Given the description of an element on the screen output the (x, y) to click on. 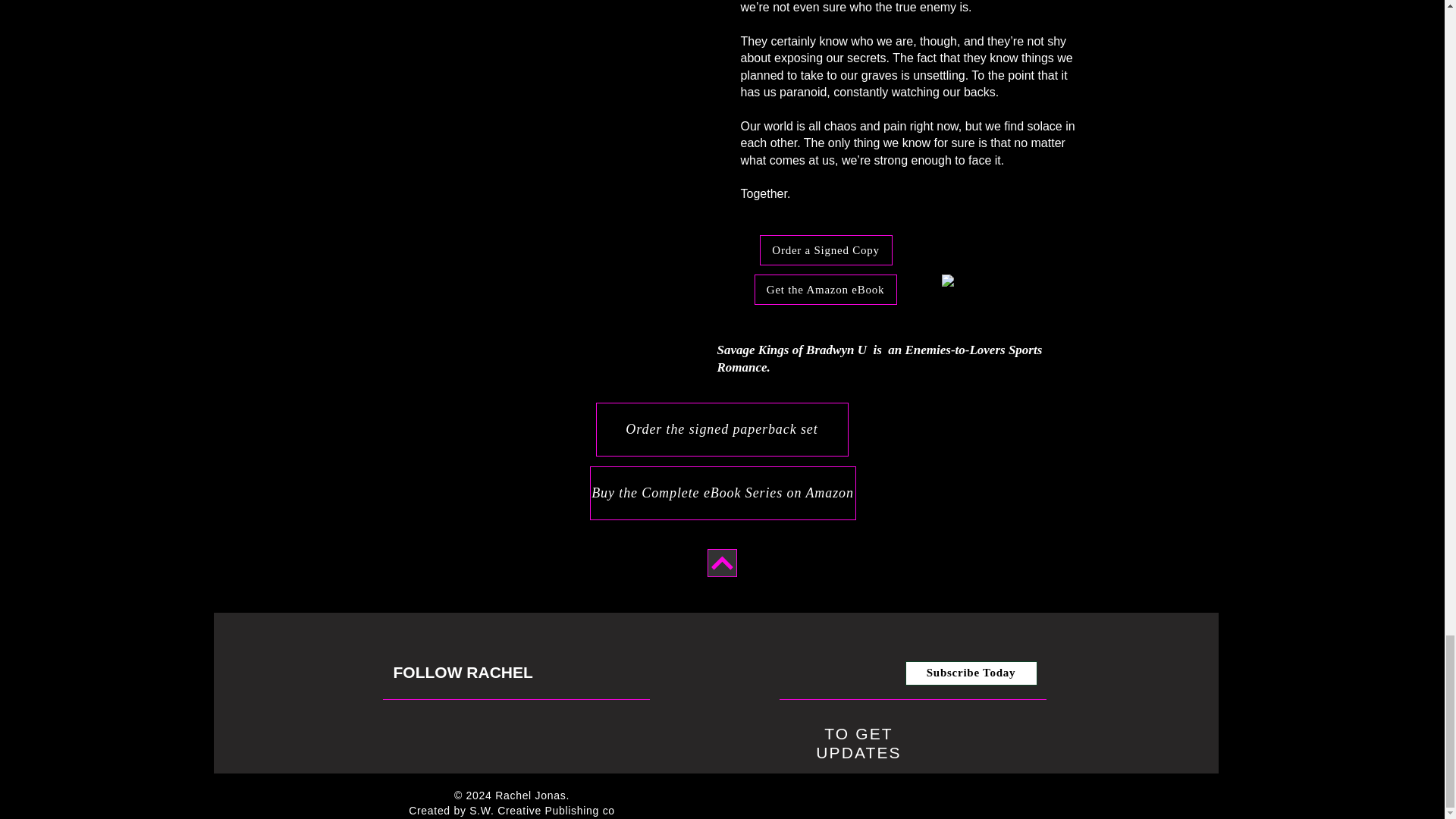
Get the Amazon eBook (825, 289)
Subscribe Today (970, 672)
Order a Signed Copy (826, 250)
Buy the Complete eBook Series on Amazon (722, 493)
Order the signed paperback set (721, 429)
